Given the description of an element on the screen output the (x, y) to click on. 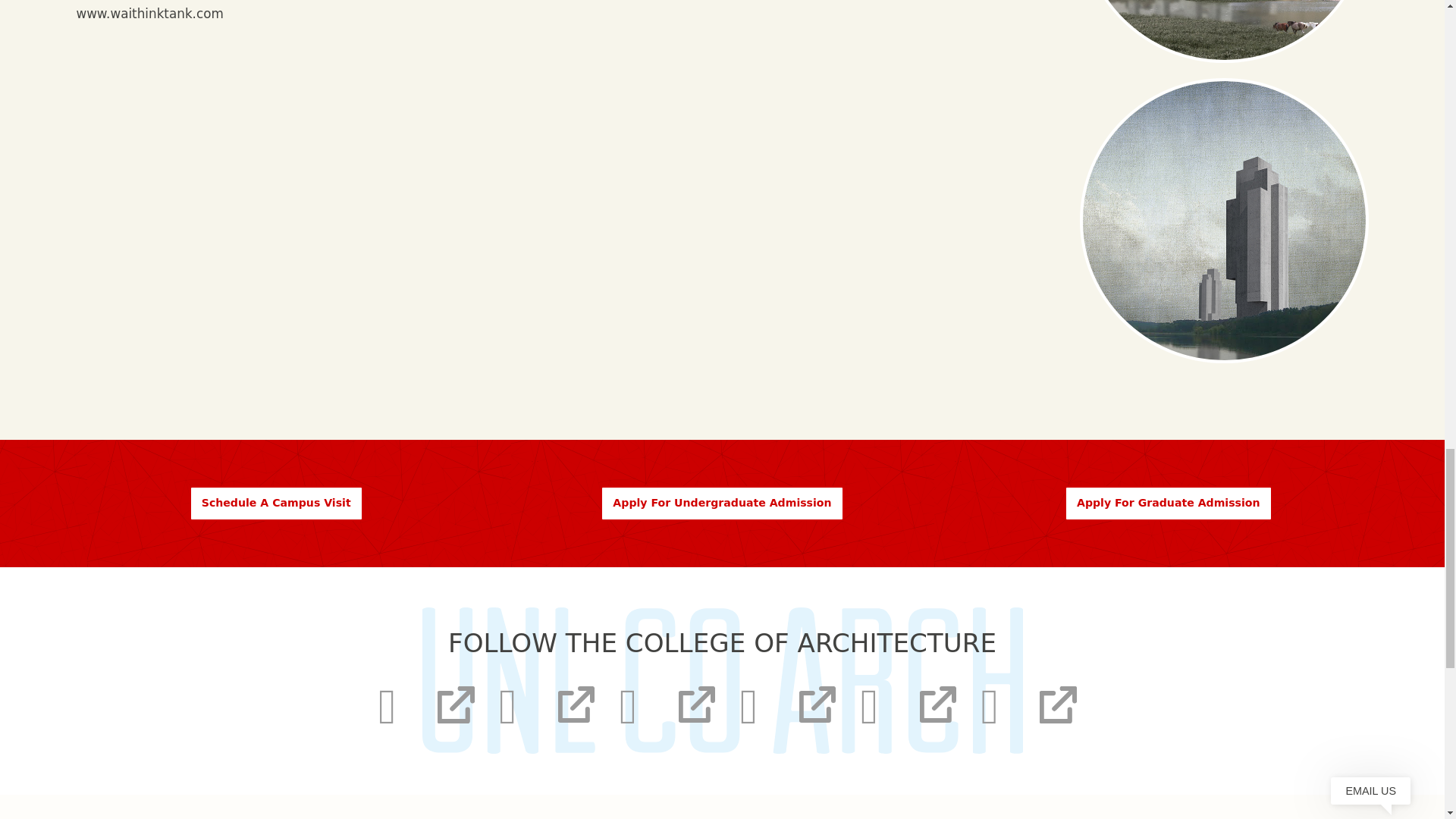
Suprematist (1224, 220)
Palace (1224, 31)
